Given the description of an element on the screen output the (x, y) to click on. 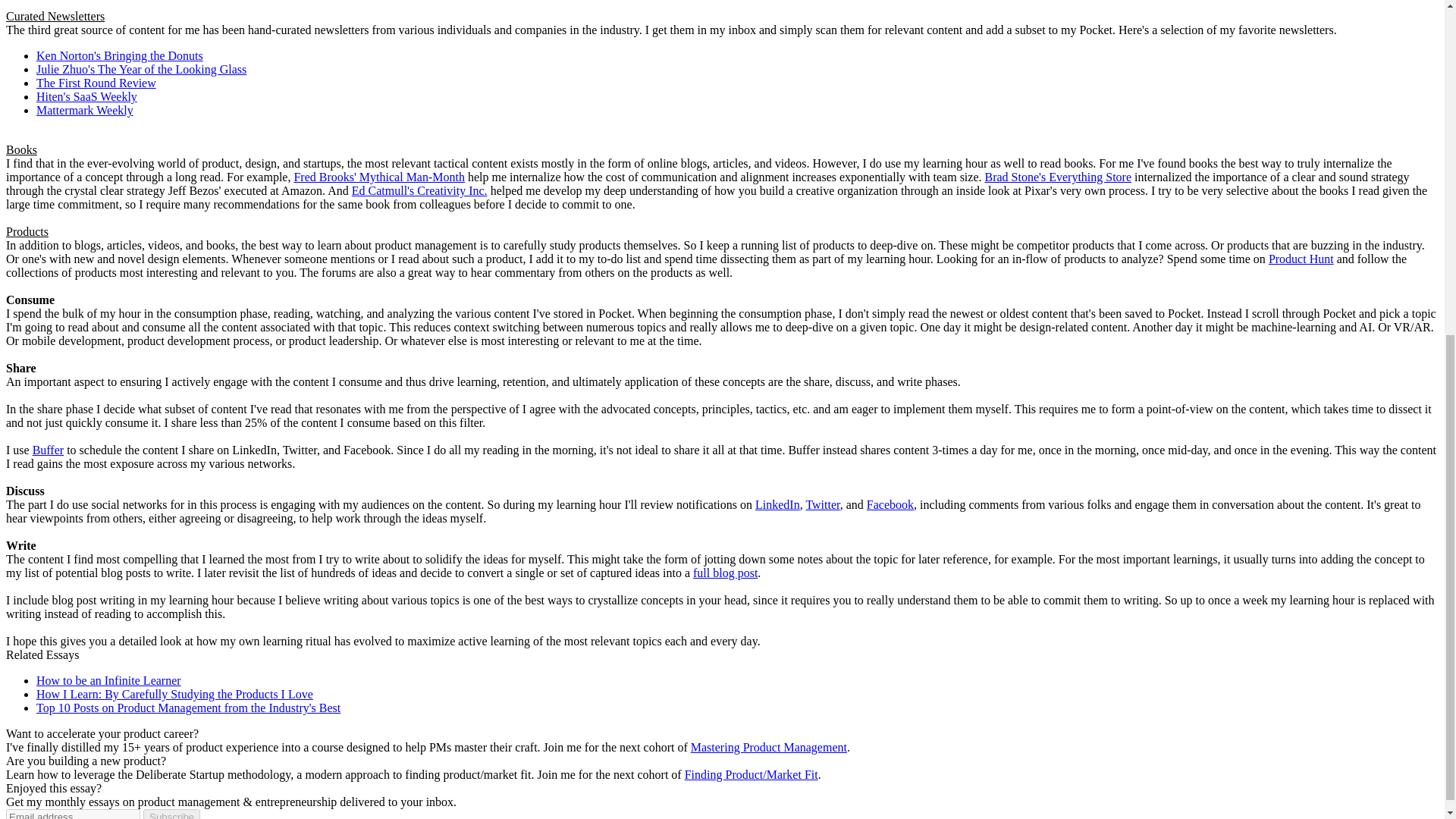
The First Round Review (95, 82)
How I Learn: By Carefully Studying the Products I Love (174, 694)
full blog post (725, 572)
How to be an Infinite Learner (108, 680)
Product Hunt (1300, 258)
Mattermark Weekly (84, 110)
Mastering Product Management (768, 747)
Buffer (48, 449)
Julie Zhuo's The Year of the Looking Glass (141, 69)
Top 10 Posts on Product Management from the Industry's Best (188, 707)
Hiten's SaaS Weekly (86, 96)
Brad Stone's Everything Store (1058, 176)
Twitter (822, 504)
Ed Catmull's Creativity Inc. (419, 190)
Fred Brooks' Mythical Man-Month (379, 176)
